Given the description of an element on the screen output the (x, y) to click on. 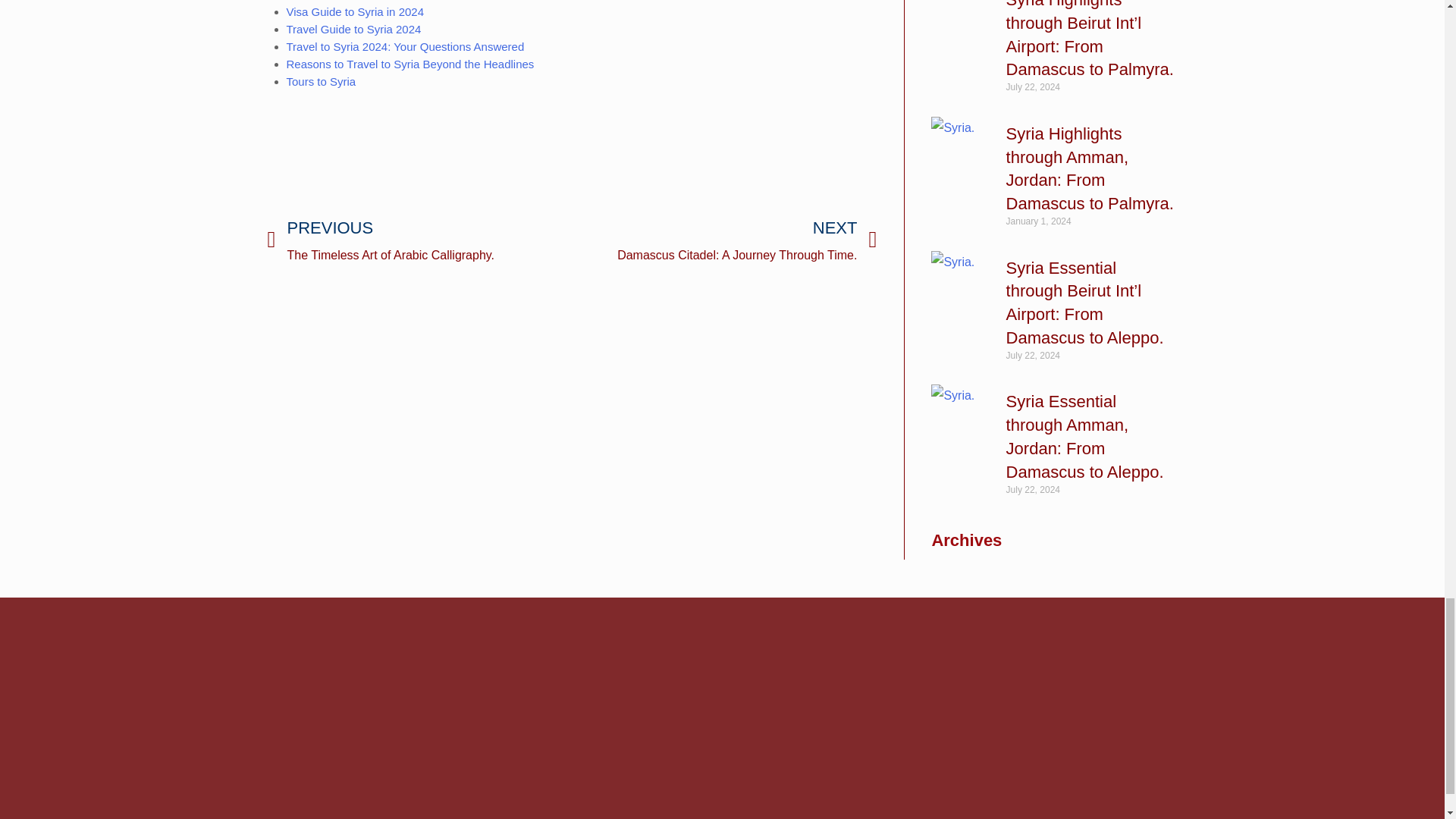
Travel to Syria 2024: Your Questions Answered (405, 46)
Visa Guide to Syria in 2024 (419, 239)
Reasons to Travel to Syria Beyond the Headlines (355, 11)
Tours to Syria (410, 63)
Travel Guide to Syria 2024 (724, 239)
